Given the description of an element on the screen output the (x, y) to click on. 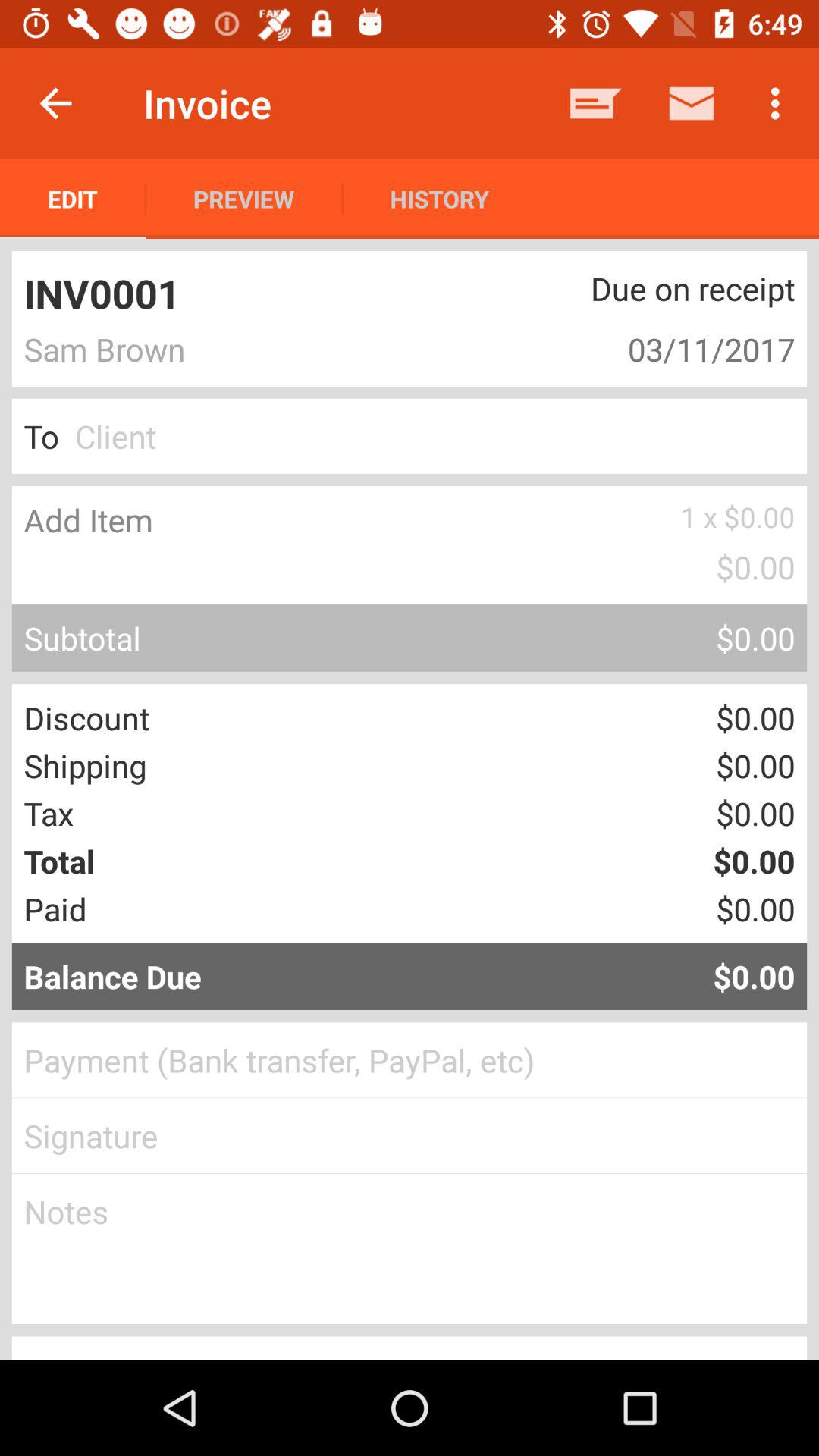
turn on the item to the right of preview icon (439, 198)
